Given the description of an element on the screen output the (x, y) to click on. 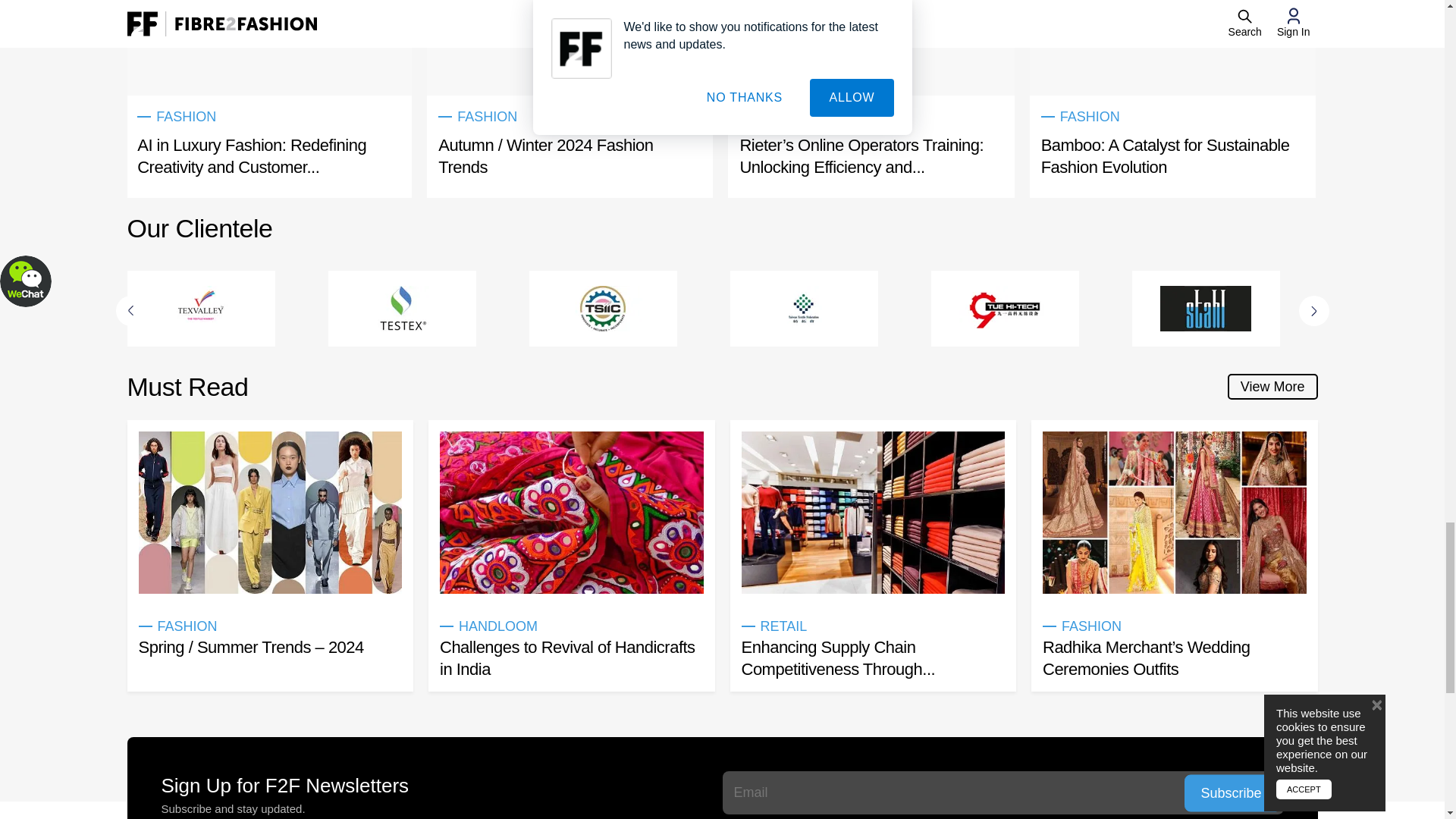
Subscribe  (1233, 792)
